Given the description of an element on the screen output the (x, y) to click on. 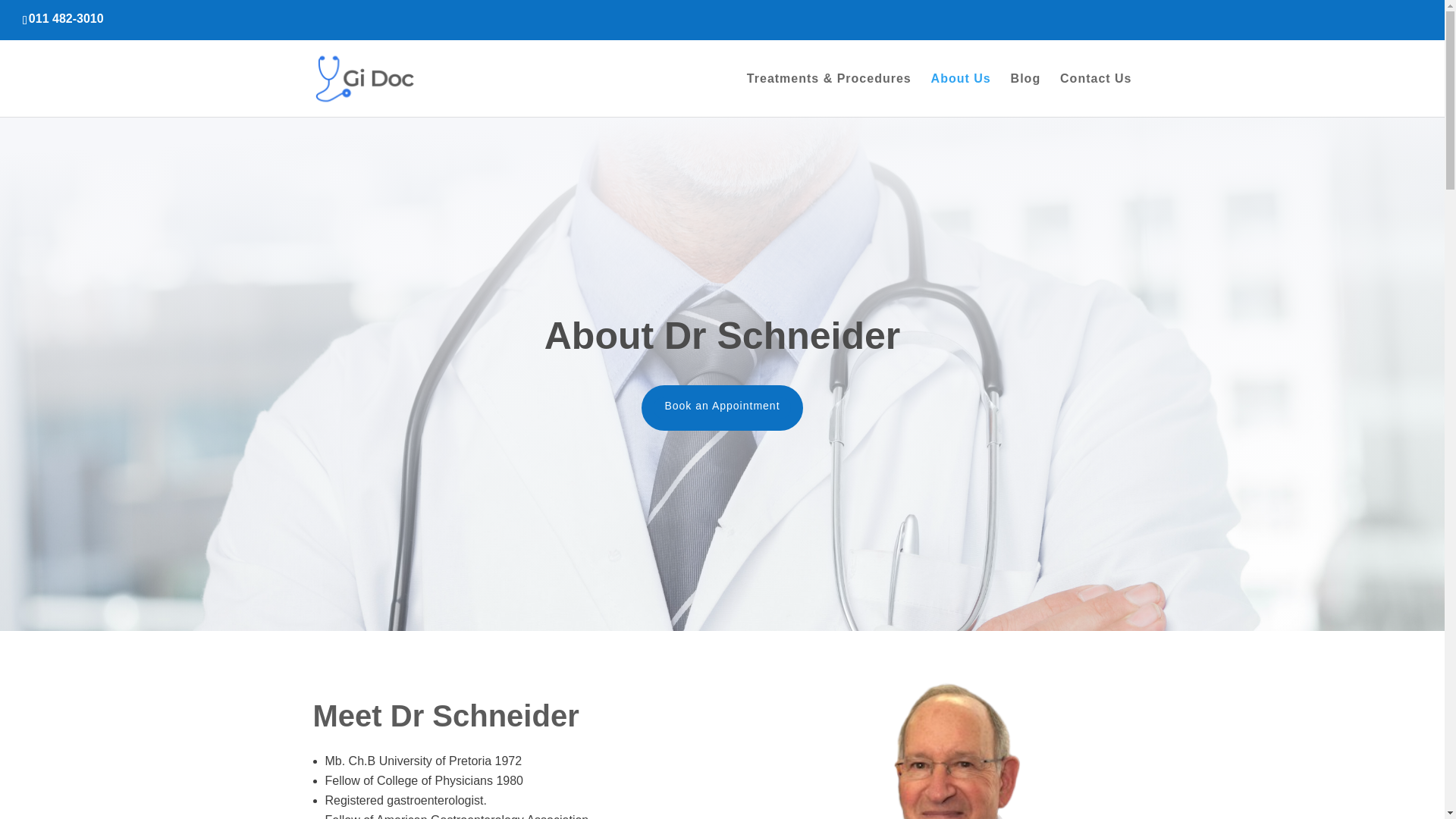
Contact Us (1095, 95)
About GI Doc Johannesburg by Dr Schneider (937, 737)
Book an Appointment (722, 407)
About Us (961, 95)
Blog (1025, 95)
